Given the description of an element on the screen output the (x, y) to click on. 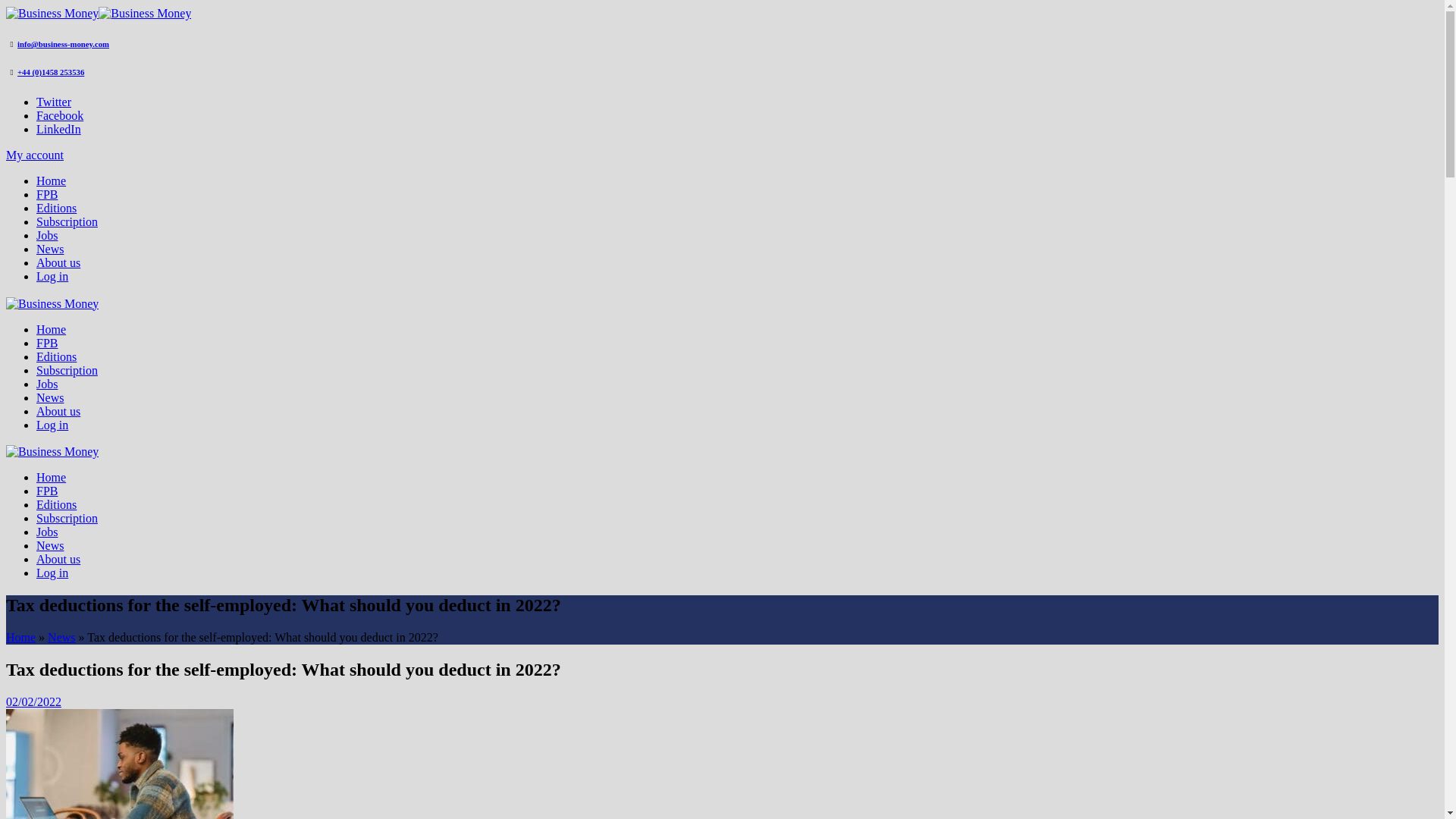
Facebook (59, 115)
Editions (56, 504)
News (50, 248)
FPB (47, 490)
My account (34, 154)
click to call (50, 71)
About us (58, 410)
Editions (56, 207)
Home (50, 180)
Log in (52, 572)
Log in (52, 276)
Business Money (52, 301)
News (50, 545)
Linkedin (58, 128)
Subscription (66, 221)
